Given the description of an element on the screen output the (x, y) to click on. 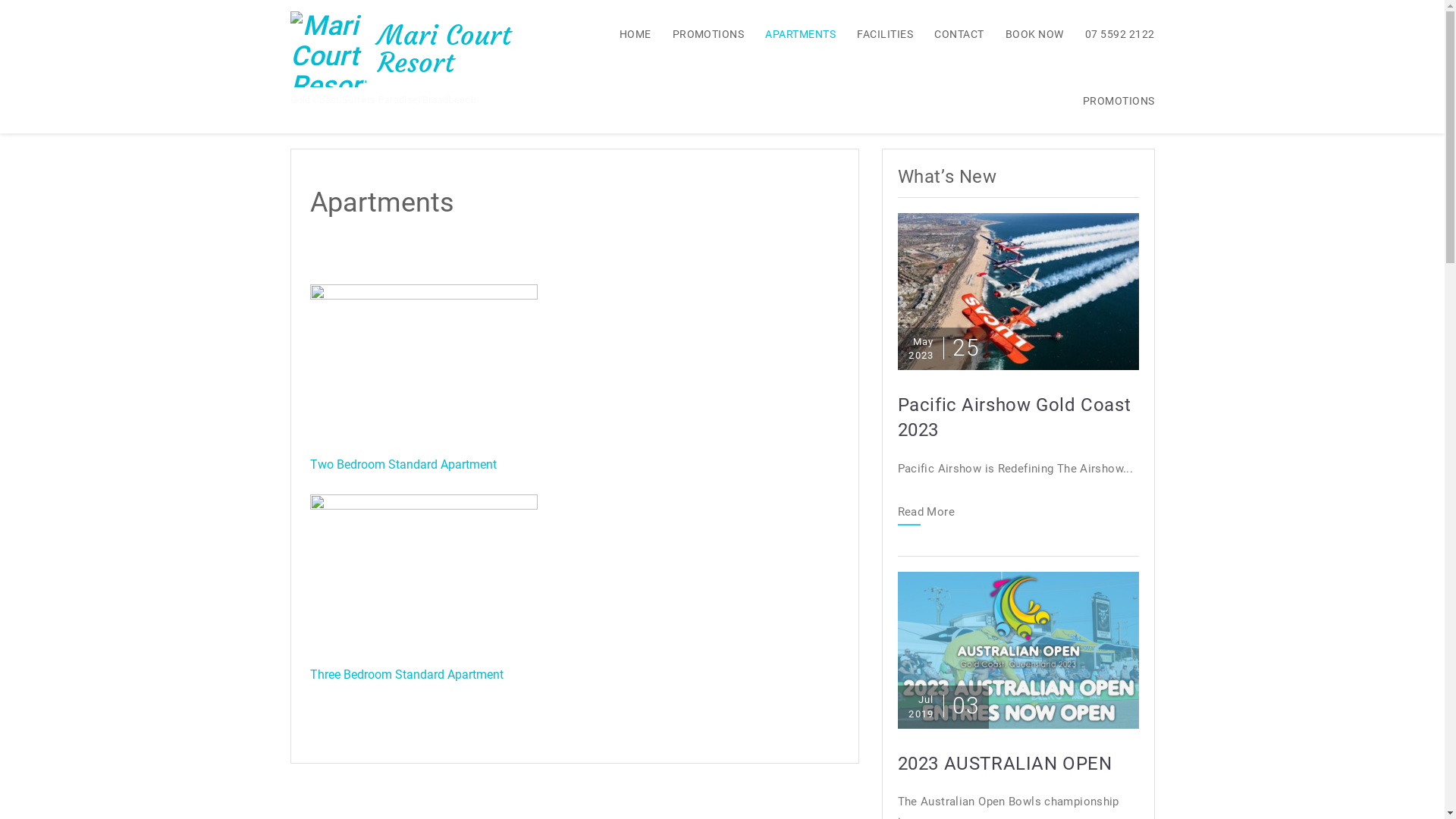
Two Bedroom Standard Apartment Element type: text (402, 464)
Pacific Airshow Gold Coast 2023 Element type: hover (1018, 290)
2023 AUSTRALIAN OPEN Element type: hover (1018, 649)
Three Bedroom Standard Apartment Element type: text (405, 674)
CONTACT Element type: text (949, 33)
HOME Element type: text (626, 33)
PROMOTIONS Element type: text (1109, 99)
2023 AUSTRALIAN OPEN Element type: hover (1018, 649)
Mari Court Resort Element type: text (444, 48)
BOOK NOW Element type: text (1025, 33)
Pacific Airshow Gold Coast 2023 Element type: text (1018, 417)
Read More Element type: text (925, 515)
FACILITIES Element type: text (875, 33)
APARTMENTS Element type: text (790, 33)
Pacific Airshow Gold Coast 2023 Element type: hover (1018, 291)
Home Element type: text (305, 107)
07 5592 2122 Element type: text (1110, 33)
2023 AUSTRALIAN OPEN Element type: text (1018, 764)
PROMOTIONS Element type: text (699, 33)
